Given the description of an element on the screen output the (x, y) to click on. 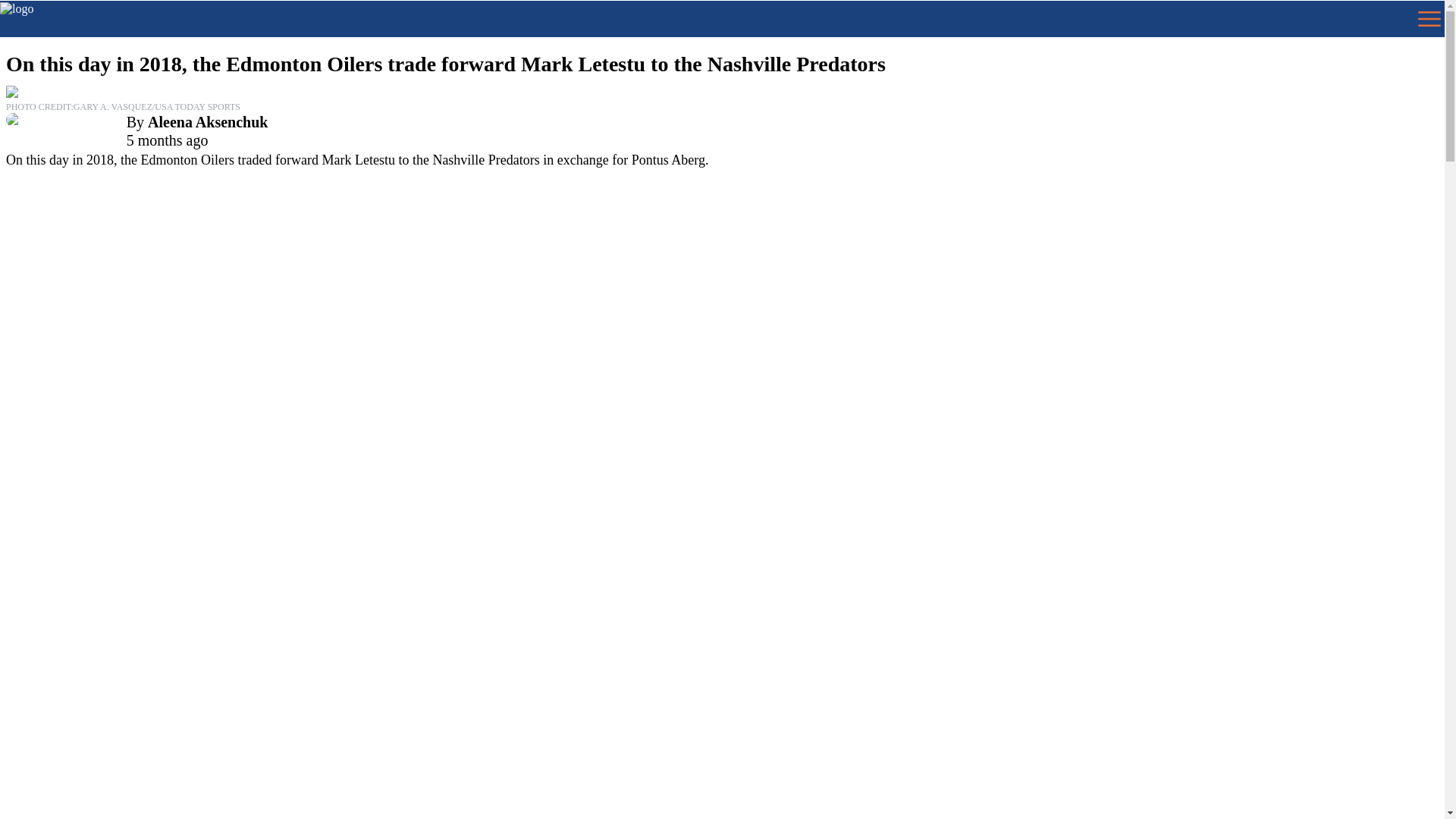
Aleena Aksenchuk (207, 121)
